Given the description of an element on the screen output the (x, y) to click on. 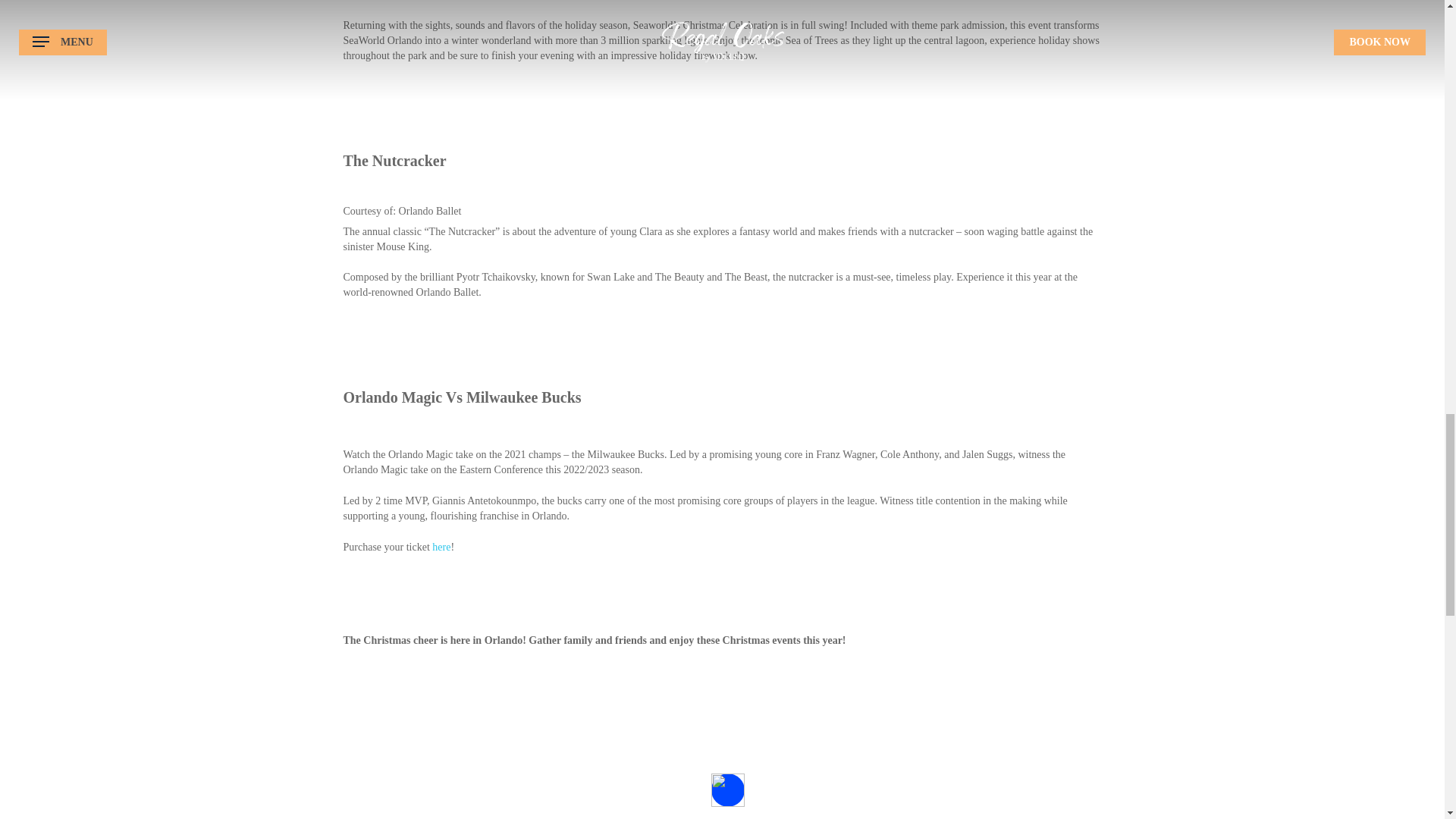
here (440, 546)
